Given the description of an element on the screen output the (x, y) to click on. 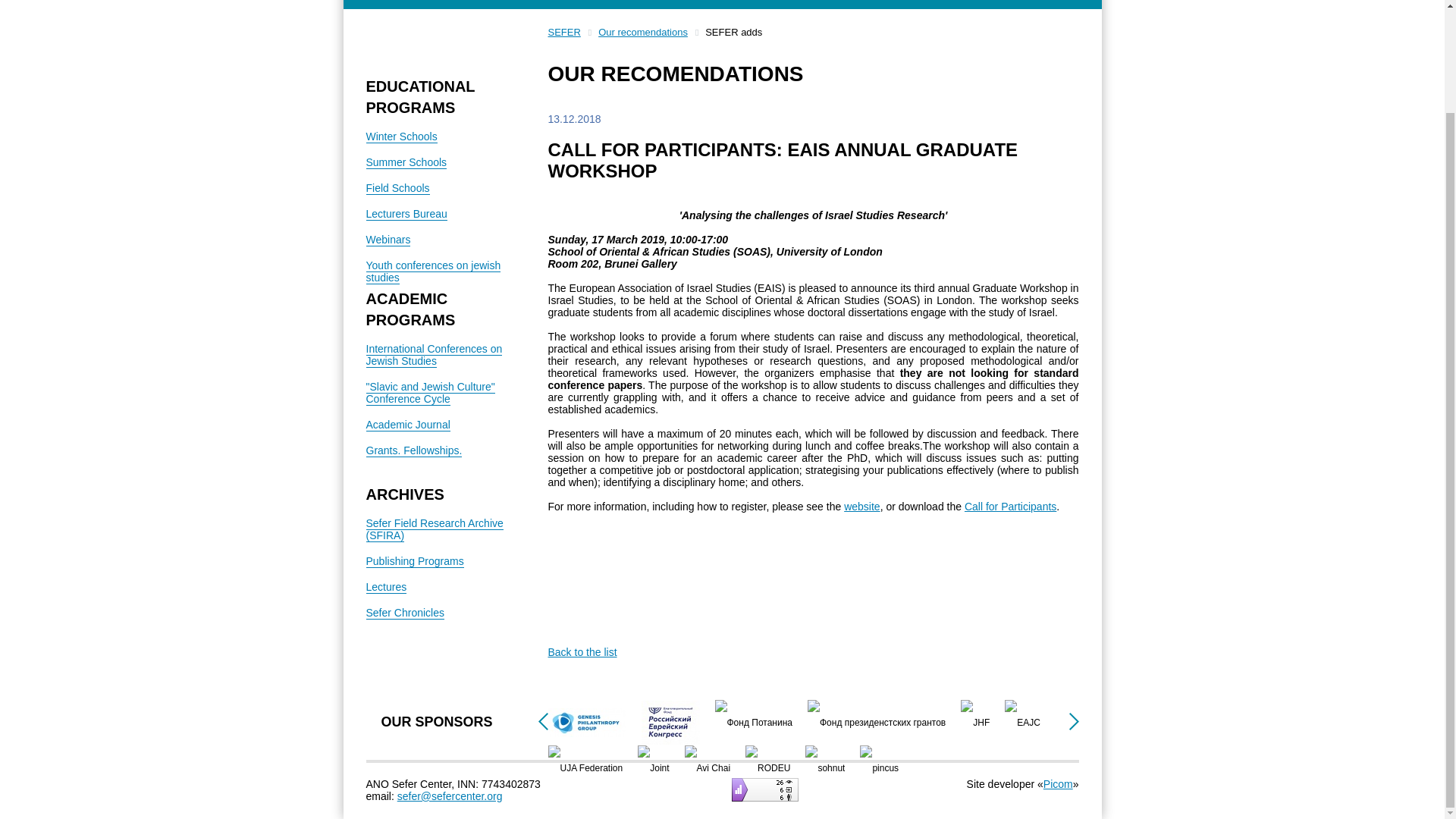
Grants. Fellowships. (413, 450)
MEDIA ABOUT US (721, 4)
Picom (1058, 784)
Academic Journal (407, 424)
Lecturers Bureau (405, 214)
"Slavic and Jewish Culture" Conference Cycle (430, 392)
Webinars (387, 239)
Sefer Chronicles (404, 612)
Field Schools (397, 187)
SEFER (563, 31)
